Given the description of an element on the screen output the (x, y) to click on. 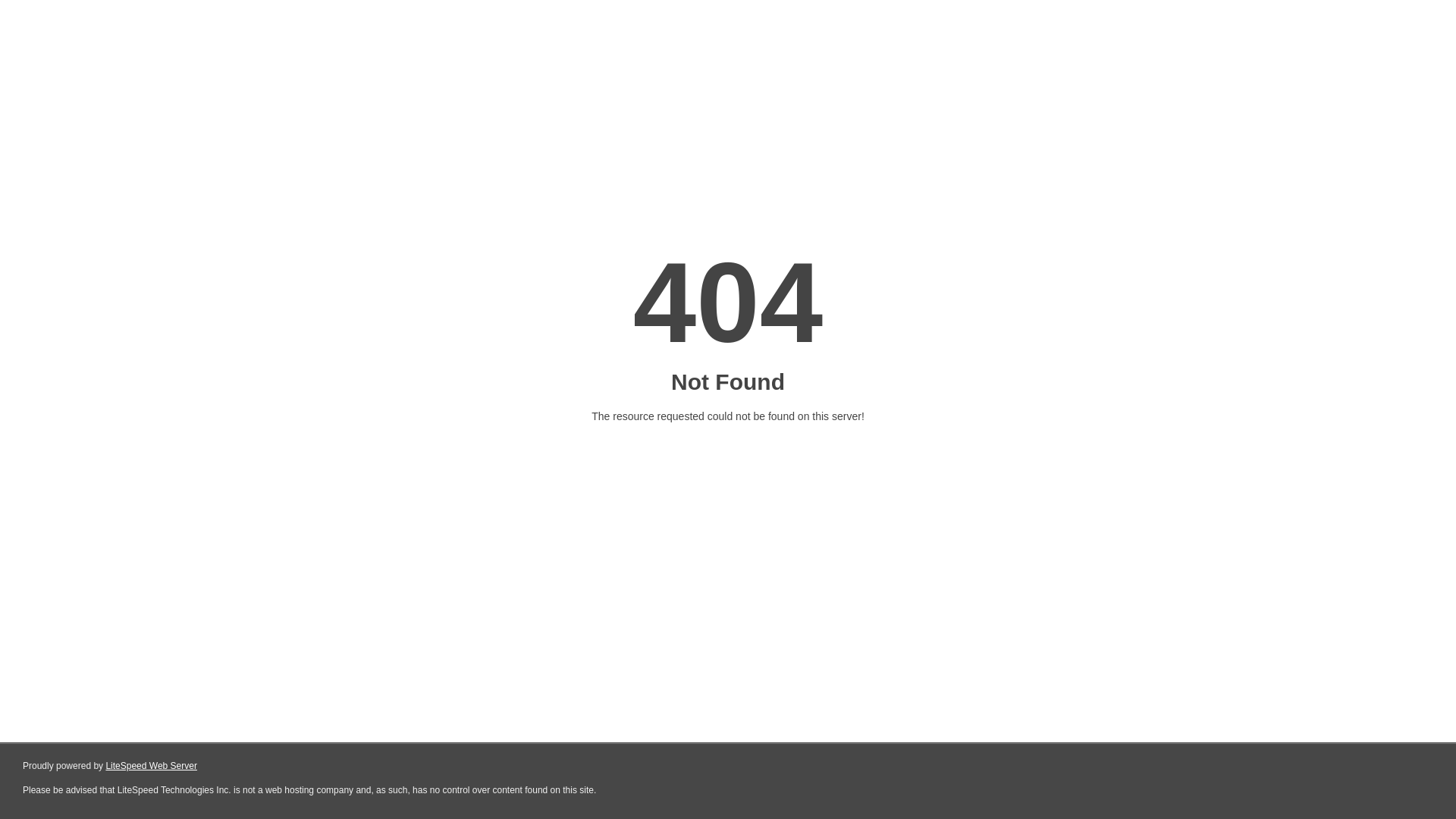
LiteSpeed Web Server Element type: text (151, 765)
